Given the description of an element on the screen output the (x, y) to click on. 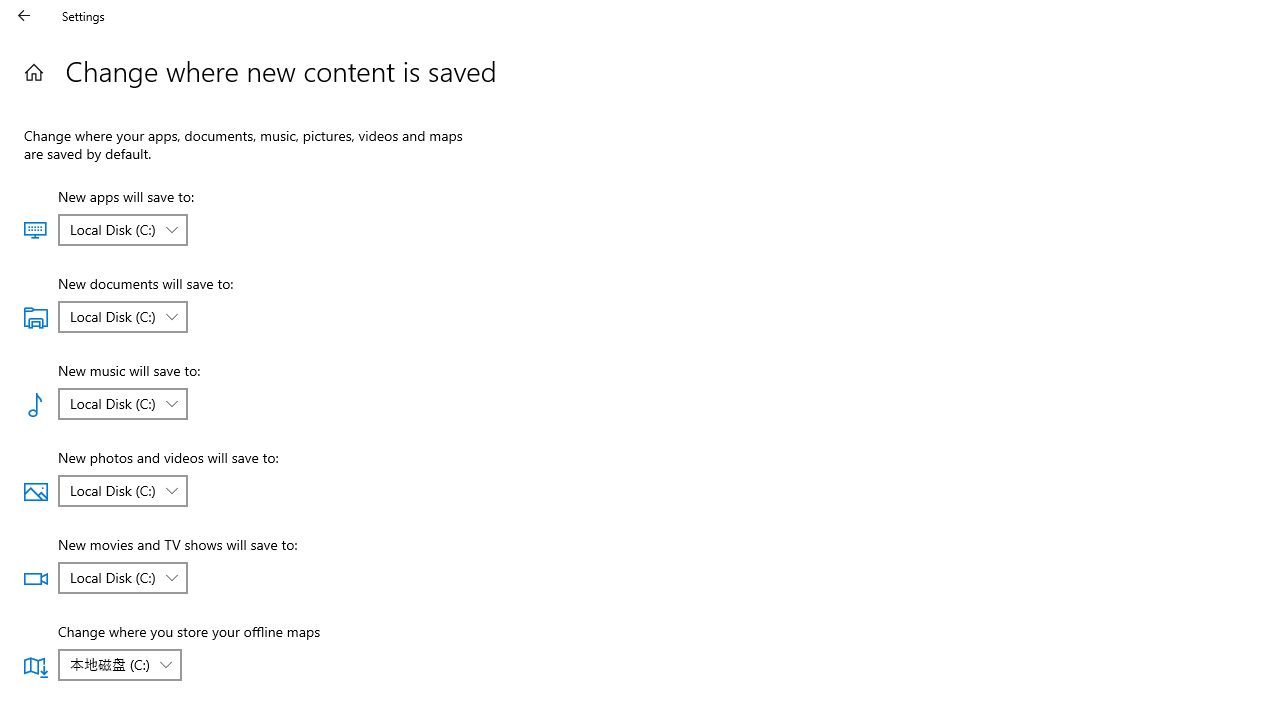
Back (24, 15)
Home (33, 71)
New music will save to: (122, 403)
New photos and videos will save to: (122, 490)
New movies and TV shows will save to: (122, 578)
Change where you store your offline maps (119, 664)
New documents will save to: (122, 316)
New apps will save to: (122, 229)
